Given the description of an element on the screen output the (x, y) to click on. 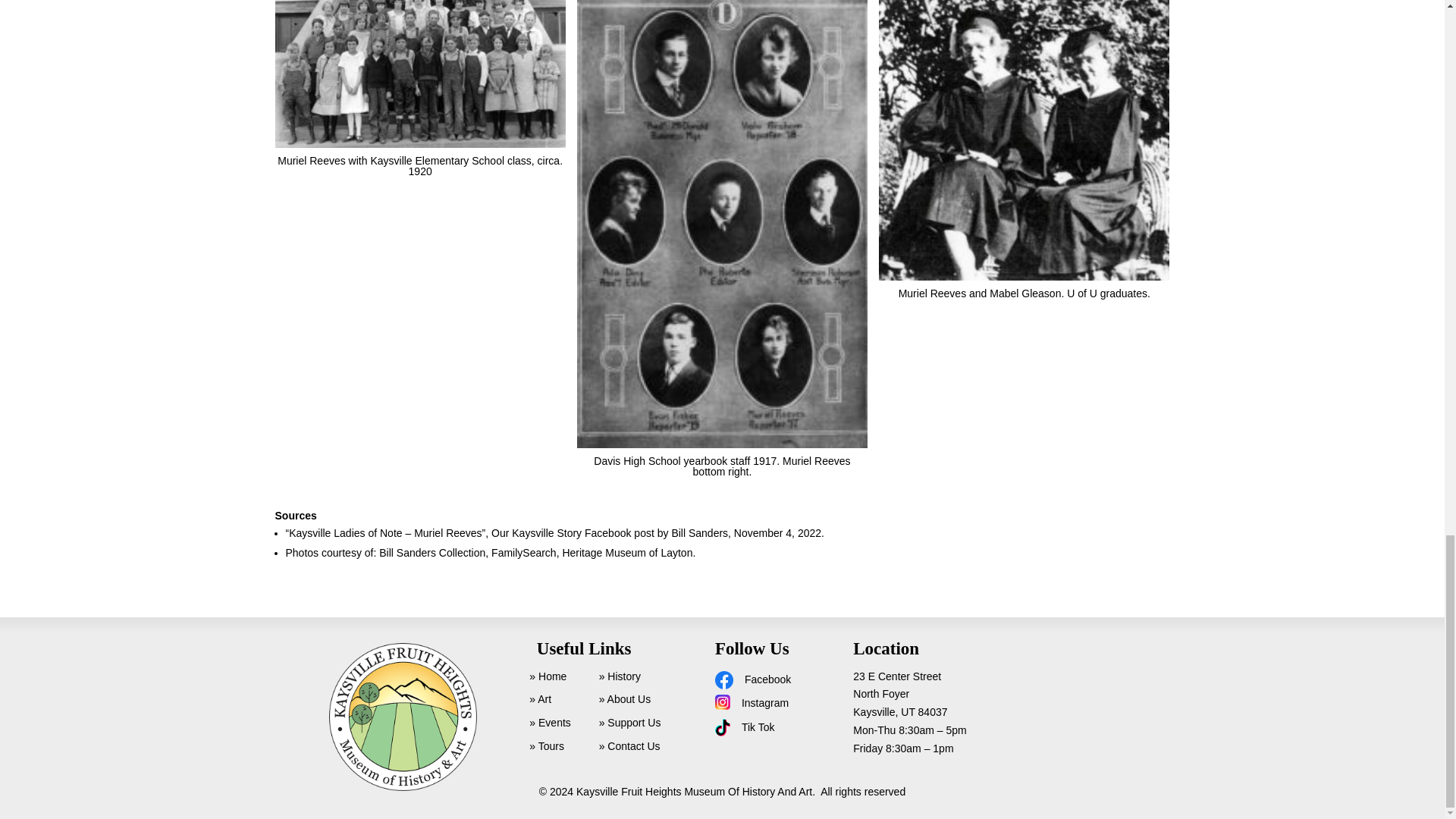
sunrise-w-mtns-logo (403, 716)
